Given the description of an element on the screen output the (x, y) to click on. 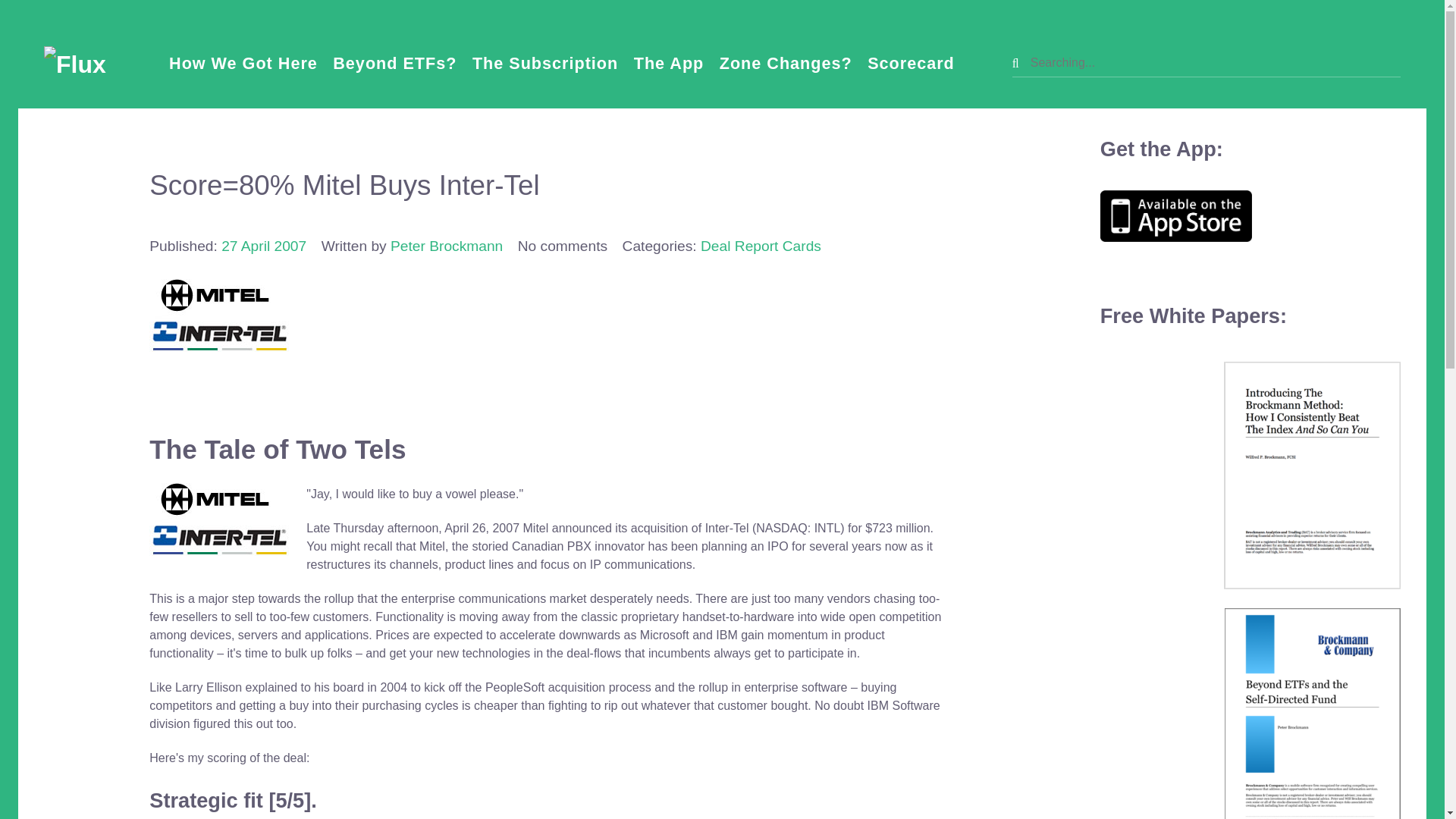
Deal Report Cards (760, 245)
The Subscription (544, 62)
Search (1205, 62)
How We Got Here (243, 62)
Zone Changes? (786, 62)
Peter Brockmann (446, 245)
Deal Report Cards (760, 245)
mitel2 (220, 520)
27 April 2007 (263, 245)
Flux (74, 62)
The App (668, 62)
Beyond ETFs? (394, 62)
Peter Brockmann (446, 245)
Scorecard (910, 62)
